Given the description of an element on the screen output the (x, y) to click on. 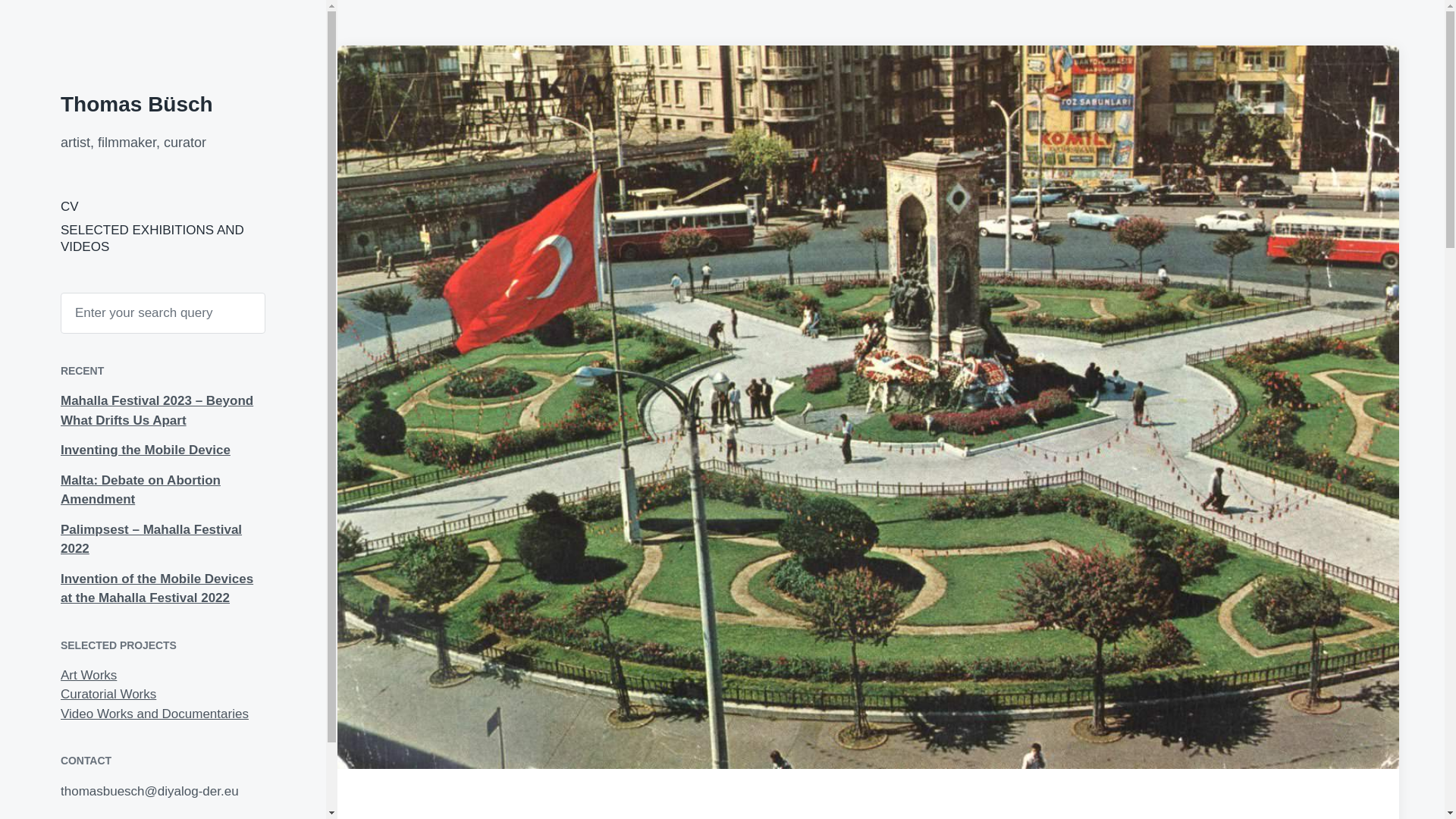
Video Works and Documentaries (154, 713)
SELECTED EXHIBITIONS AND VIDEOS (152, 237)
CV (69, 206)
Curatorial Works (108, 694)
Malta: Debate on Abortion Amendment (141, 489)
Inventing the Mobile Device (145, 450)
Art Works (88, 675)
Invention of the Mobile Devices at the Mahalla Festival 2022 (157, 588)
